Given the description of an element on the screen output the (x, y) to click on. 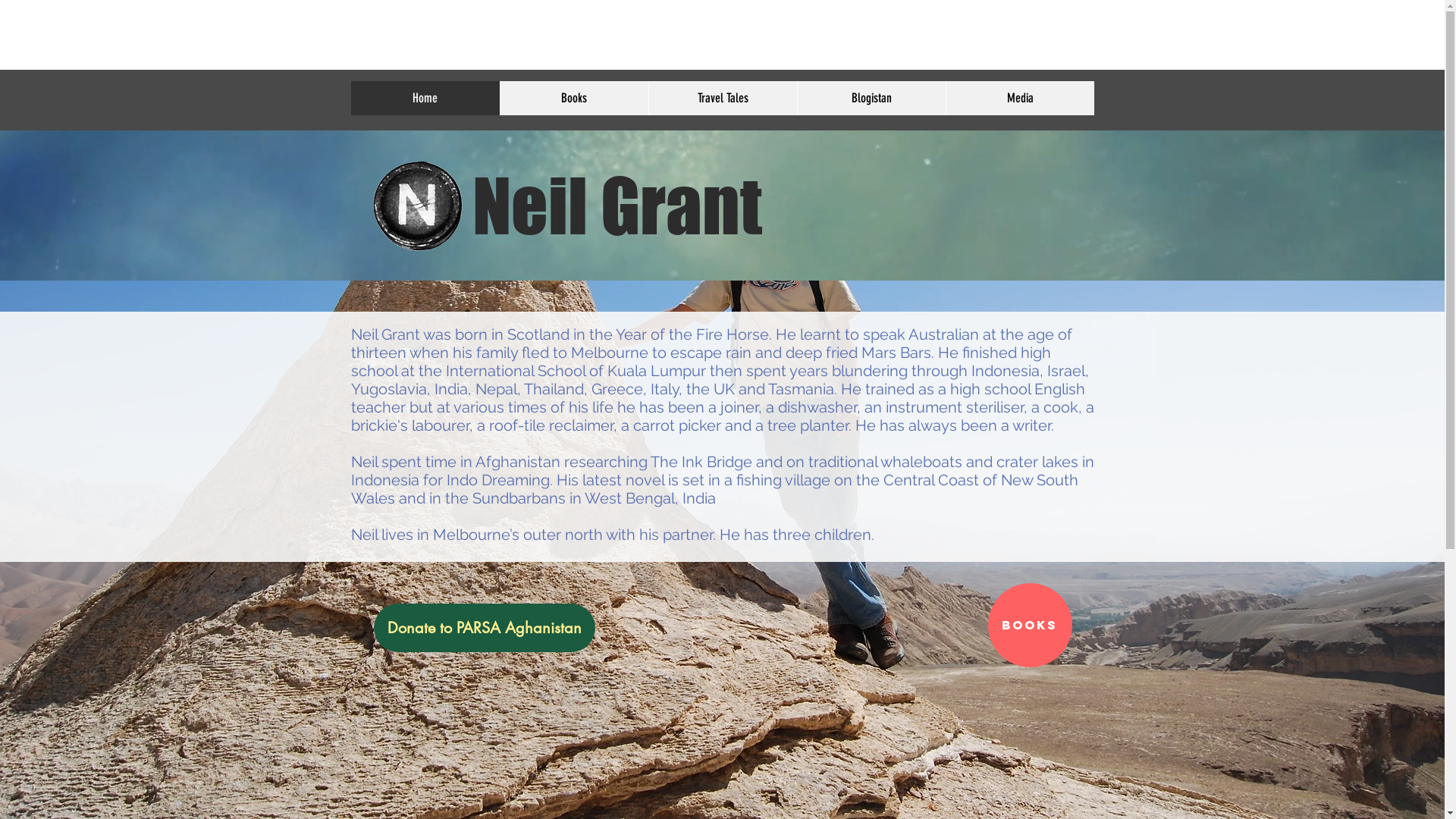
BOOKS Element type: text (1029, 625)
Media Element type: text (1018, 98)
Donate to PARSA Aghanistan Element type: text (483, 627)
Home Element type: text (424, 98)
Blogistan Element type: text (870, 98)
Books Element type: text (572, 98)
Travel Tales Element type: text (721, 98)
